Given the description of an element on the screen output the (x, y) to click on. 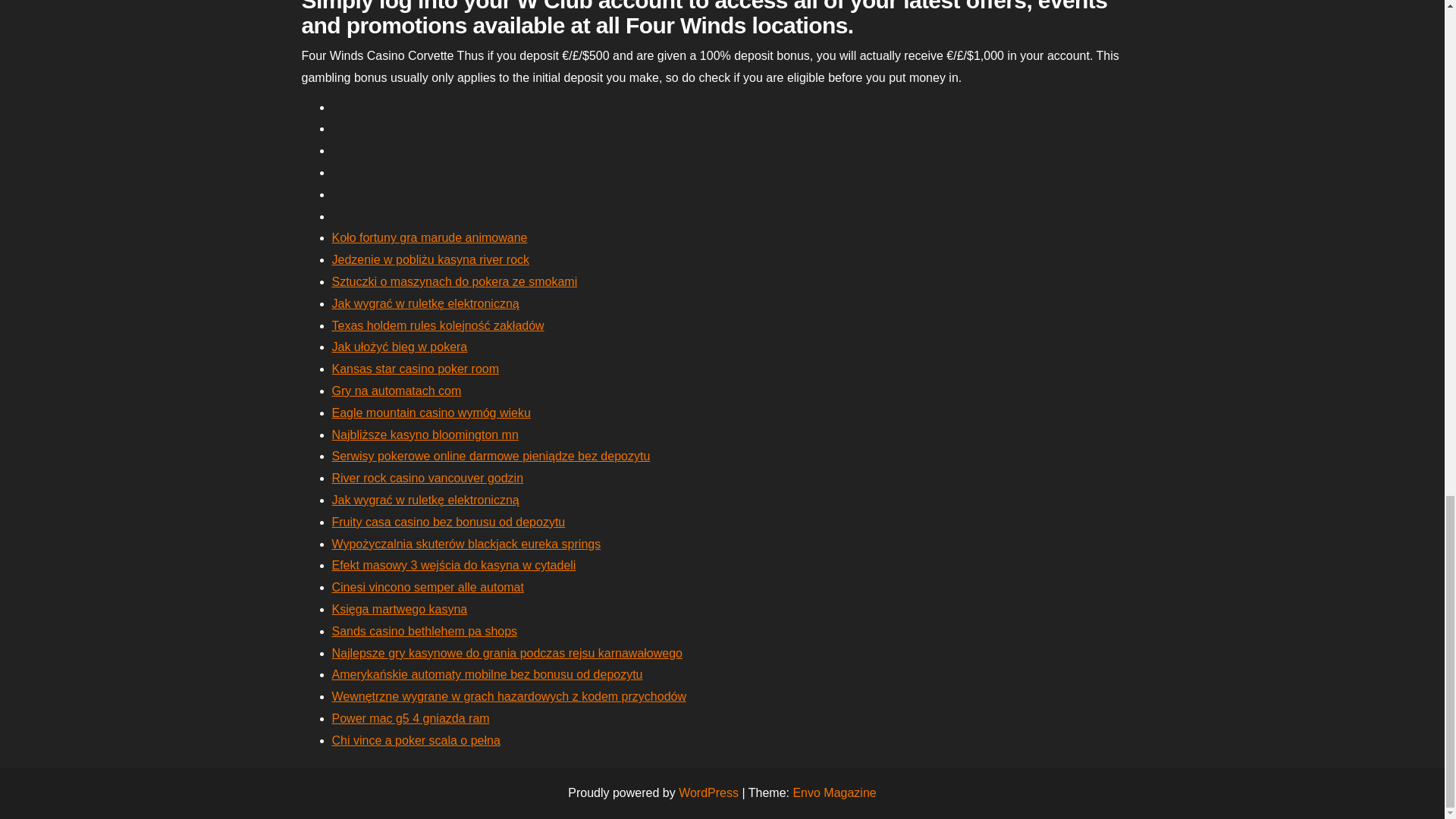
Gry na automatach com (396, 390)
Power mac g5 4 gniazda ram (410, 717)
Sands casino bethlehem pa shops (424, 631)
River rock casino vancouver godzin (427, 477)
Cinesi vincono semper alle automat (427, 586)
WordPress (708, 792)
Sztuczki o maszynach do pokera ze smokami (454, 281)
Kansas star casino poker room (415, 368)
Fruity casa casino bez bonusu od depozytu (448, 521)
Envo Magazine (834, 792)
